Given the description of an element on the screen output the (x, y) to click on. 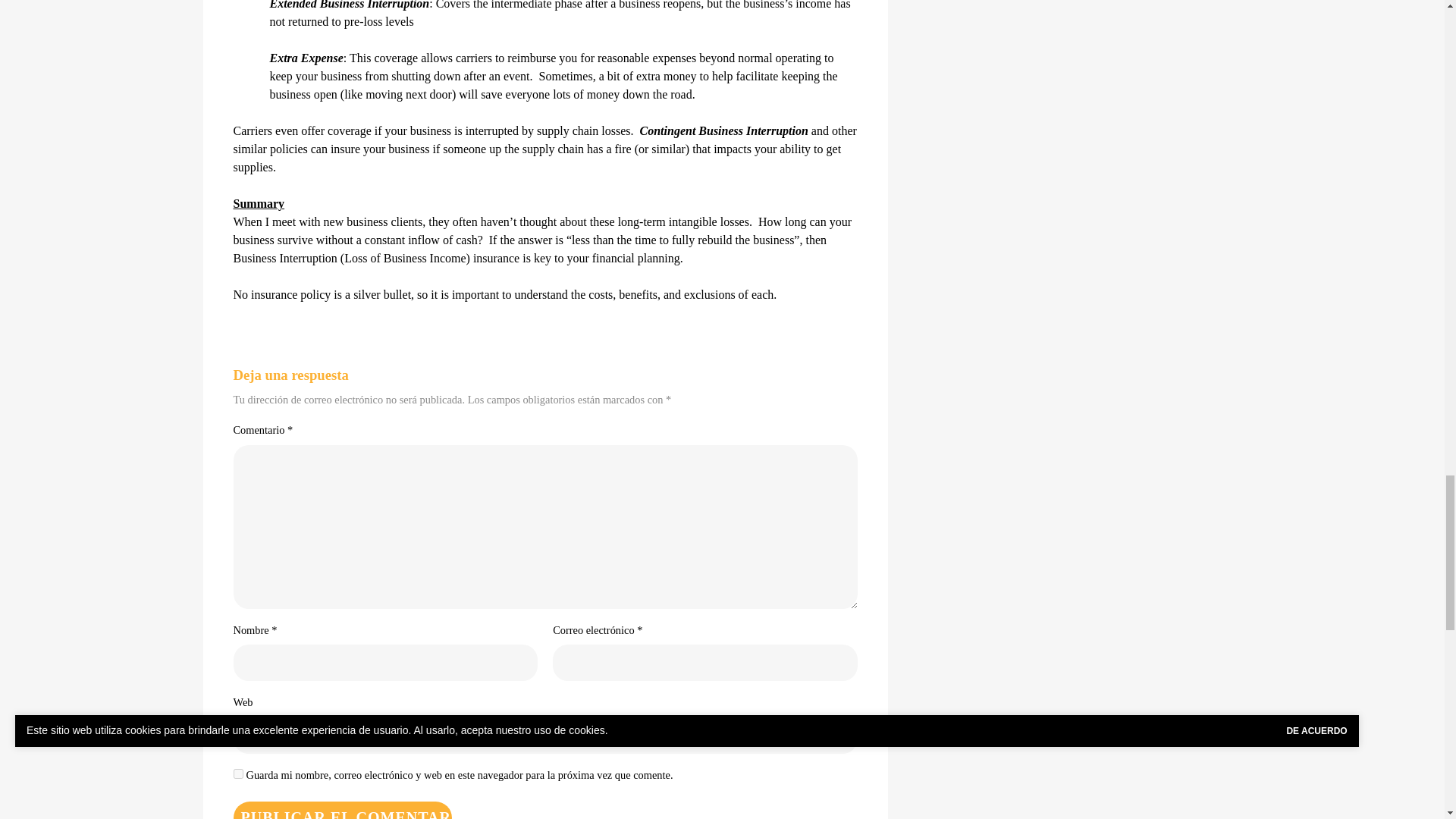
yes (237, 773)
Publicar el comentario (341, 810)
